Given the description of an element on the screen output the (x, y) to click on. 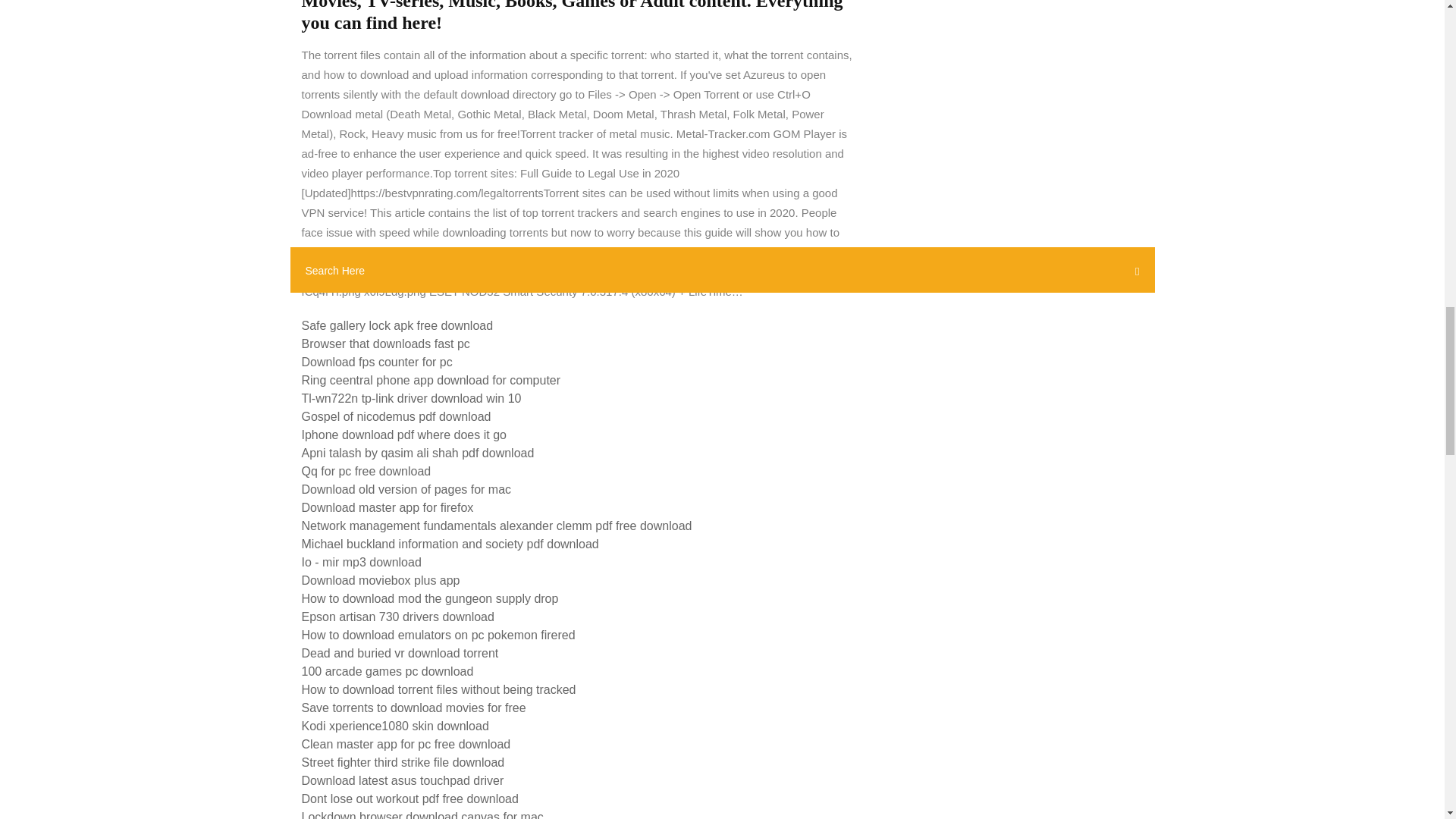
Michael buckland information and society pdf download (449, 543)
Iphone download pdf where does it go (403, 434)
How to download torrent files without being tracked (438, 689)
Save torrents to download movies for free (413, 707)
Epson artisan 730 drivers download (398, 616)
Download old version of pages for mac (406, 489)
100 arcade games pc download (387, 671)
Ring ceentral phone app download for computer (430, 379)
Browser that downloads fast pc (385, 343)
Gospel of nicodemus pdf download (396, 416)
Dead and buried vr download torrent (400, 653)
Qq for pc free download (365, 471)
Kodi xperience1080 skin download (395, 725)
Io - mir mp3 download (361, 562)
